Given the description of an element on the screen output the (x, y) to click on. 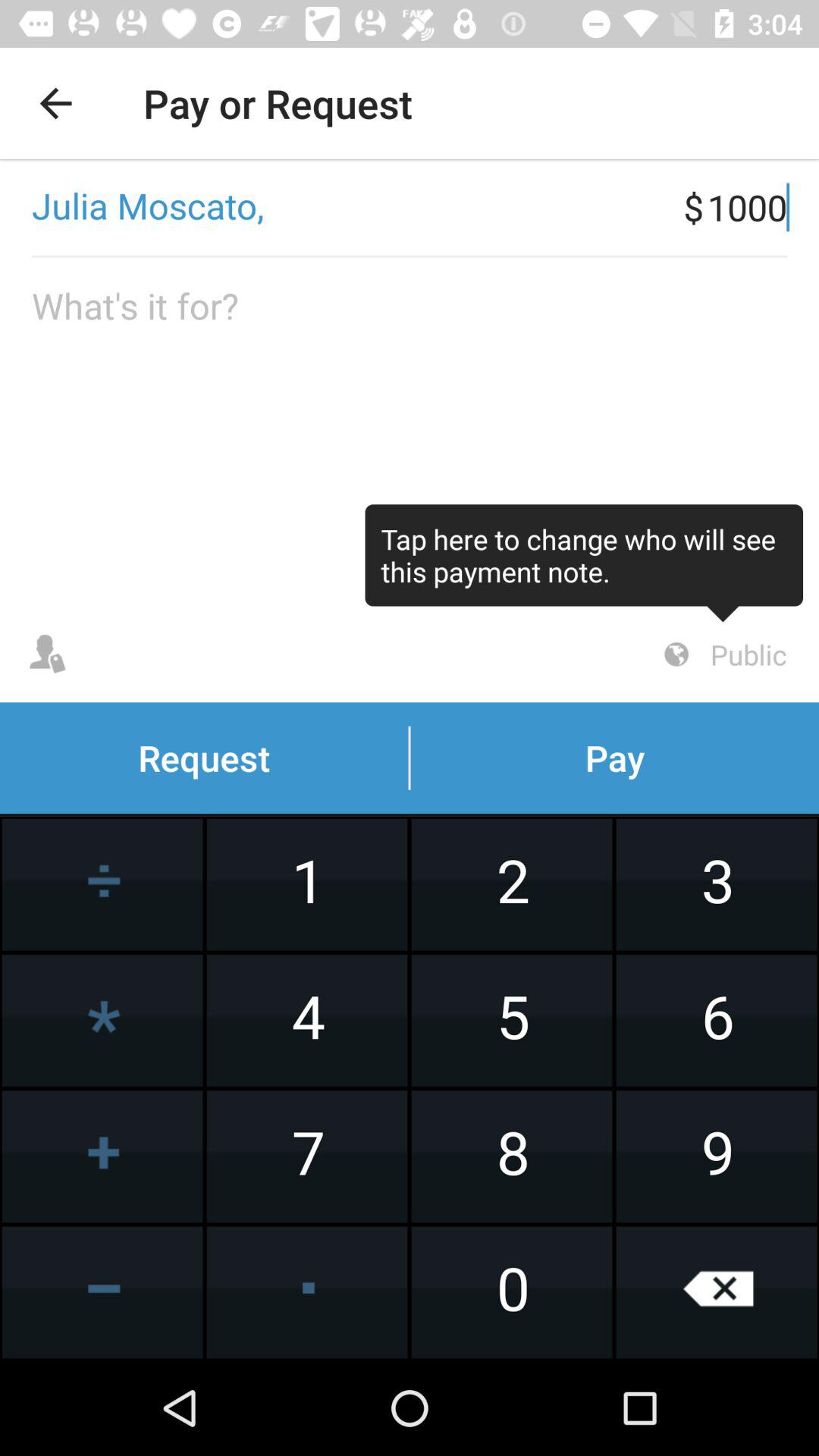
swipe until 1000 item (763, 207)
